Given the description of an element on the screen output the (x, y) to click on. 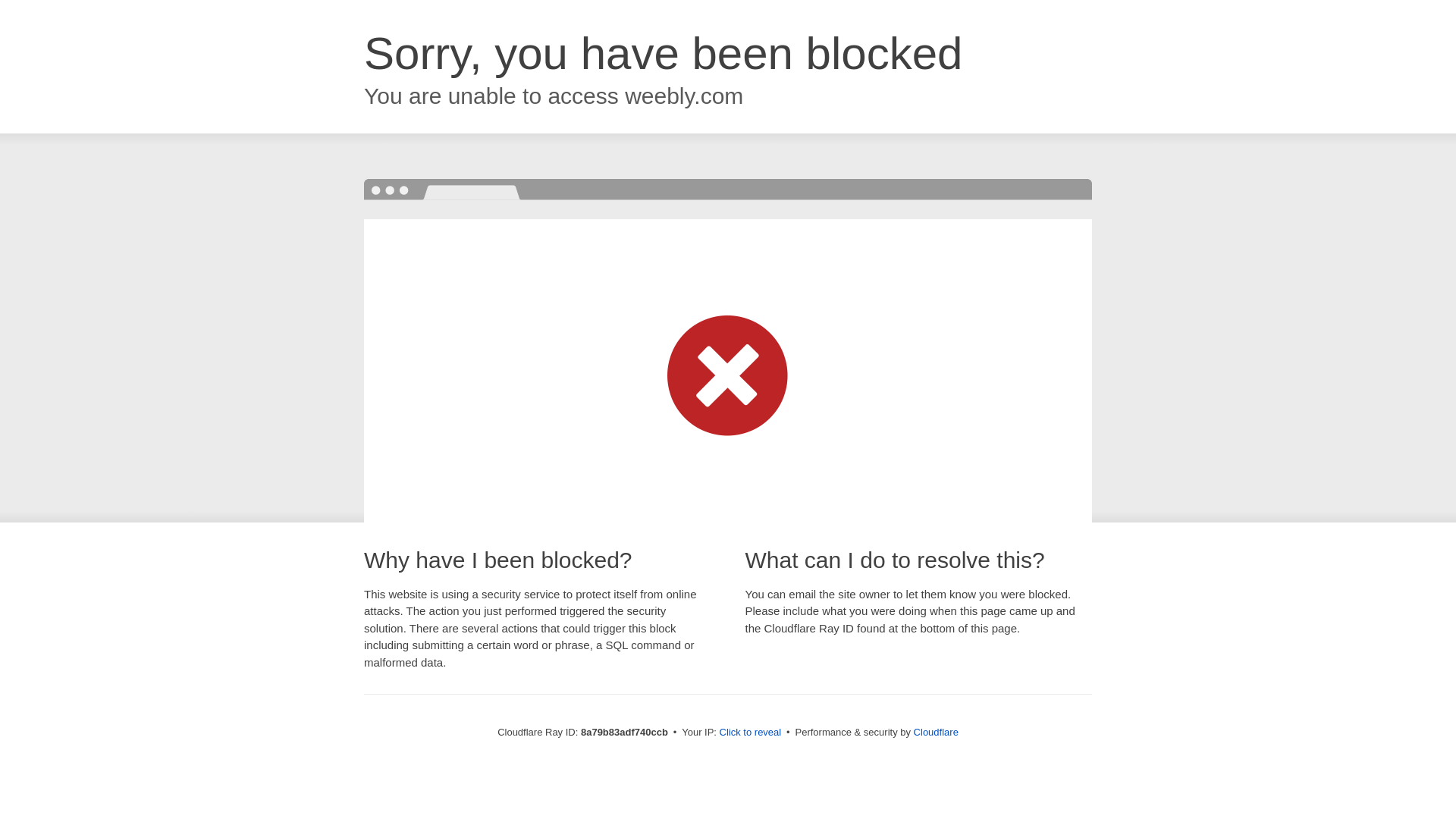
Click to reveal (750, 732)
Cloudflare (936, 731)
